Given the description of an element on the screen output the (x, y) to click on. 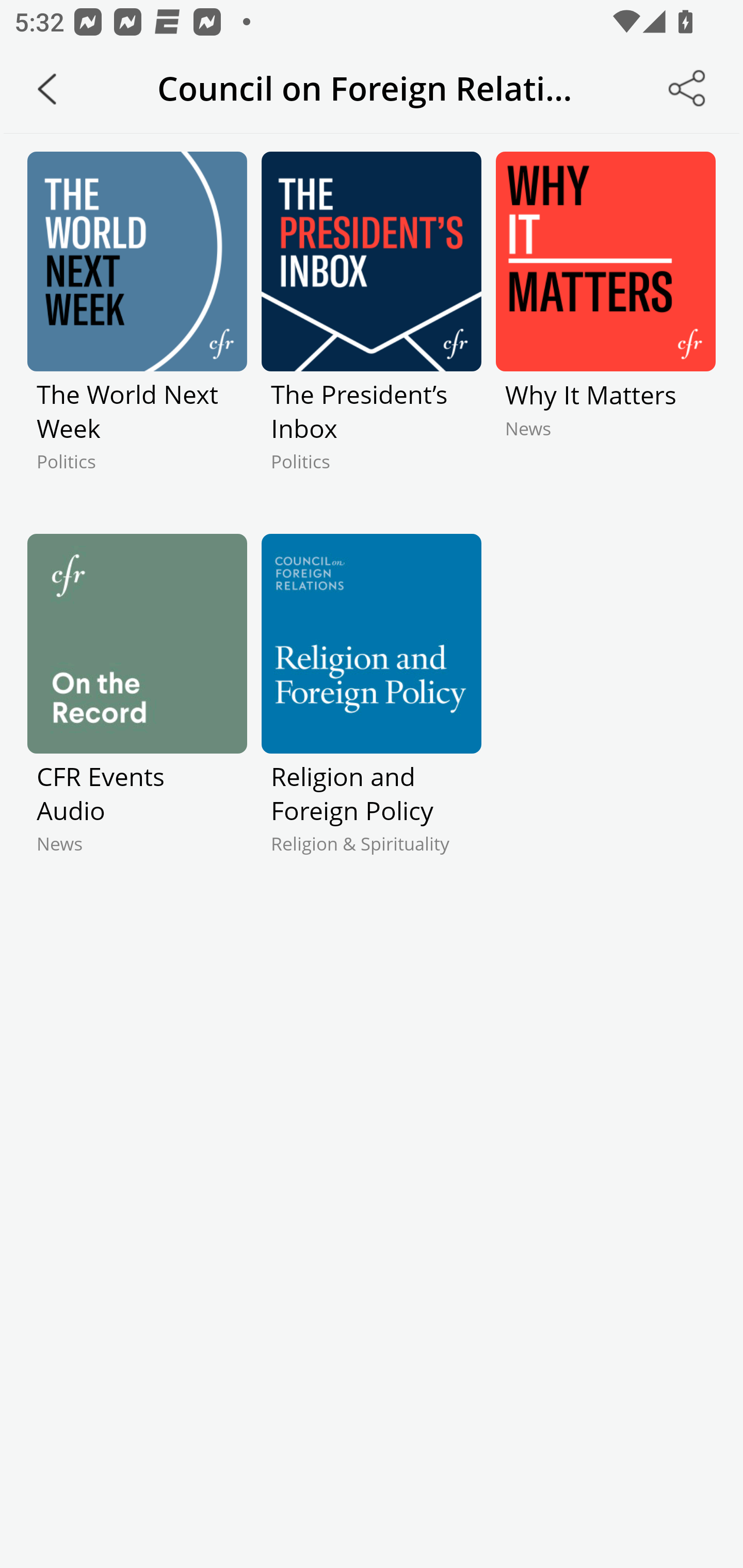
Back (46, 88)
The World Next Week Politics (137, 329)
The President’s Inbox Politics (371, 329)
Why It Matters News (605, 329)
CFR Events Audio News (137, 711)
